Given the description of an element on the screen output the (x, y) to click on. 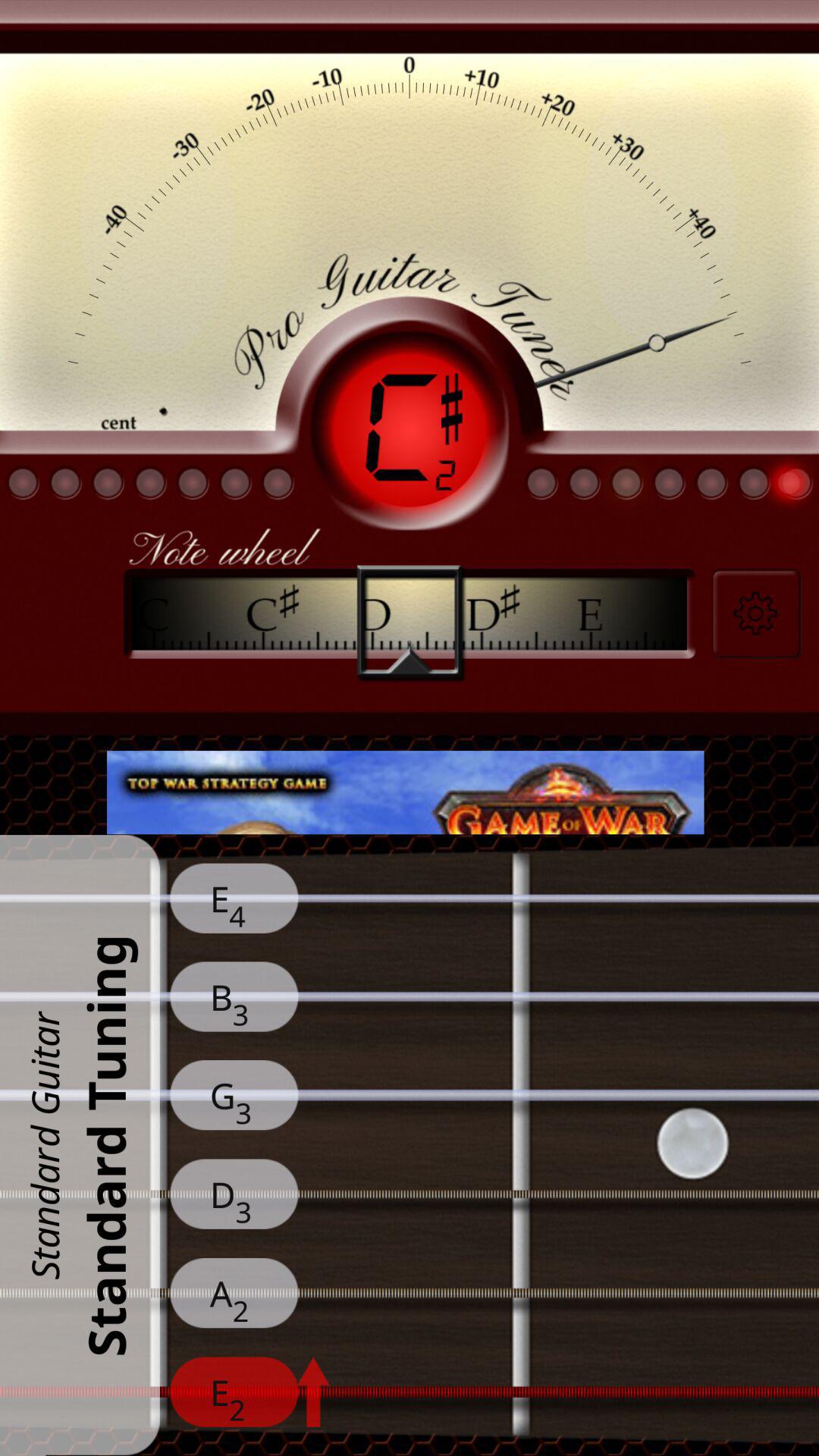
select the button below pro guitar tuner (409, 429)
select the first round which is below tuner (541, 483)
select the cirlce which is second right to c2 (584, 483)
